Given the description of an element on the screen output the (x, y) to click on. 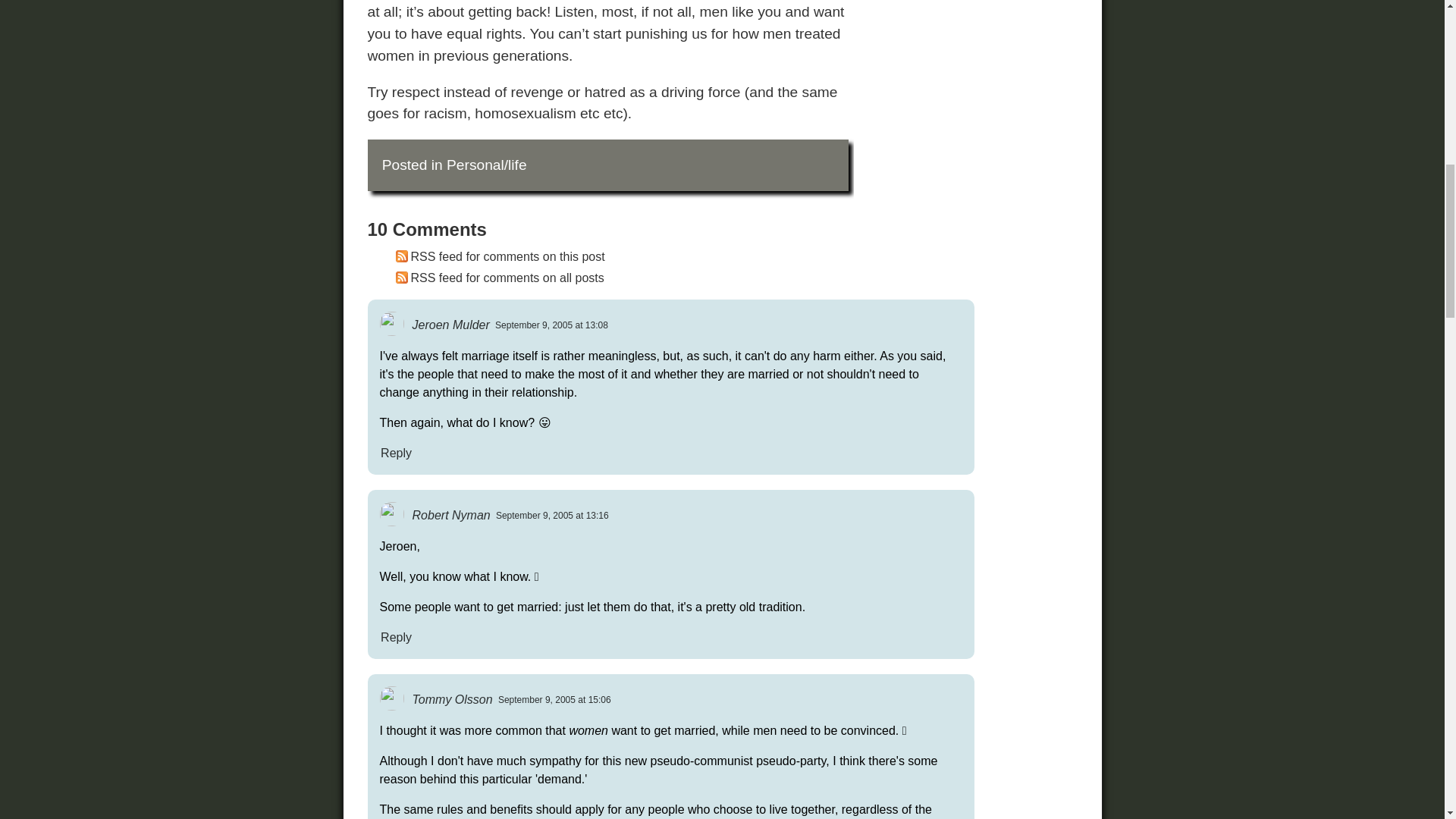
RSS feed for comments on this post (497, 256)
September 9, 2005 at 15:06 (554, 699)
Reply (395, 636)
September 9, 2005 at 13:08 (551, 325)
Robert Nyman (451, 514)
Jeroen Mulder (450, 324)
Reply (395, 452)
Tommy Olsson (451, 698)
September 9, 2005 at 13:16 (552, 515)
RSS feed for comments on all posts (497, 277)
